Given the description of an element on the screen output the (x, y) to click on. 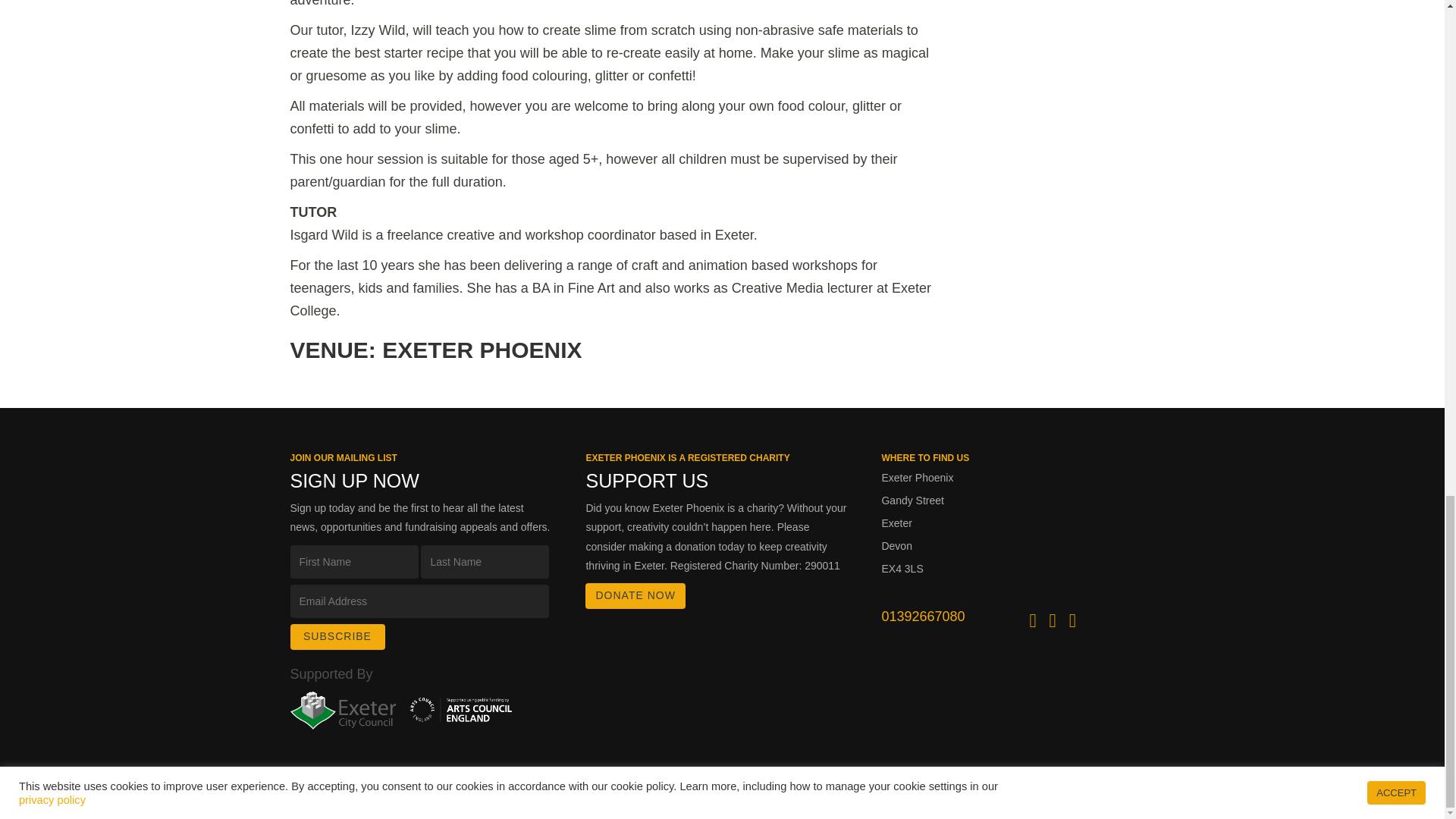
Subscribe (336, 637)
